Given the description of an element on the screen output the (x, y) to click on. 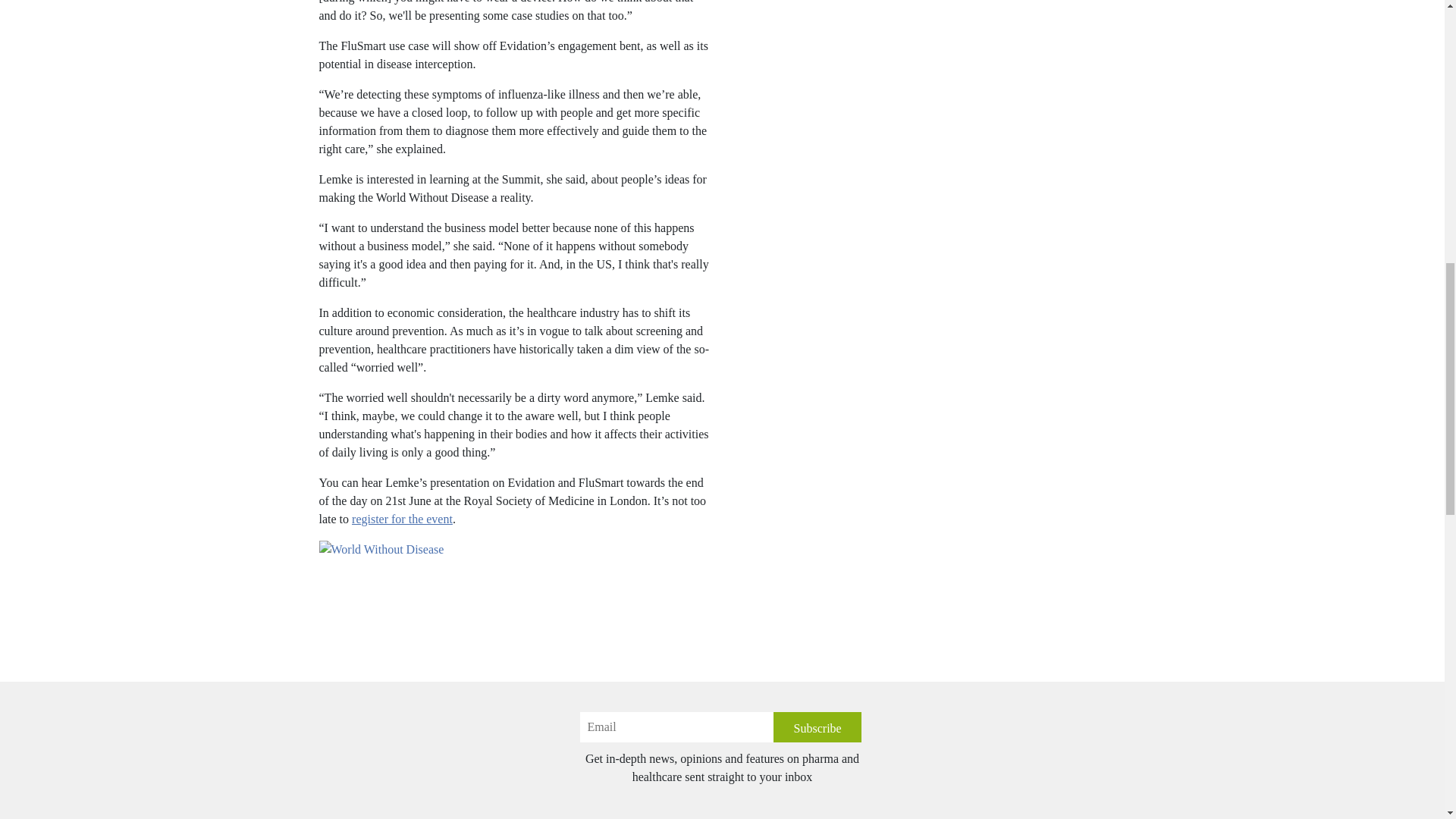
Subscribe (817, 726)
